Given the description of an element on the screen output the (x, y) to click on. 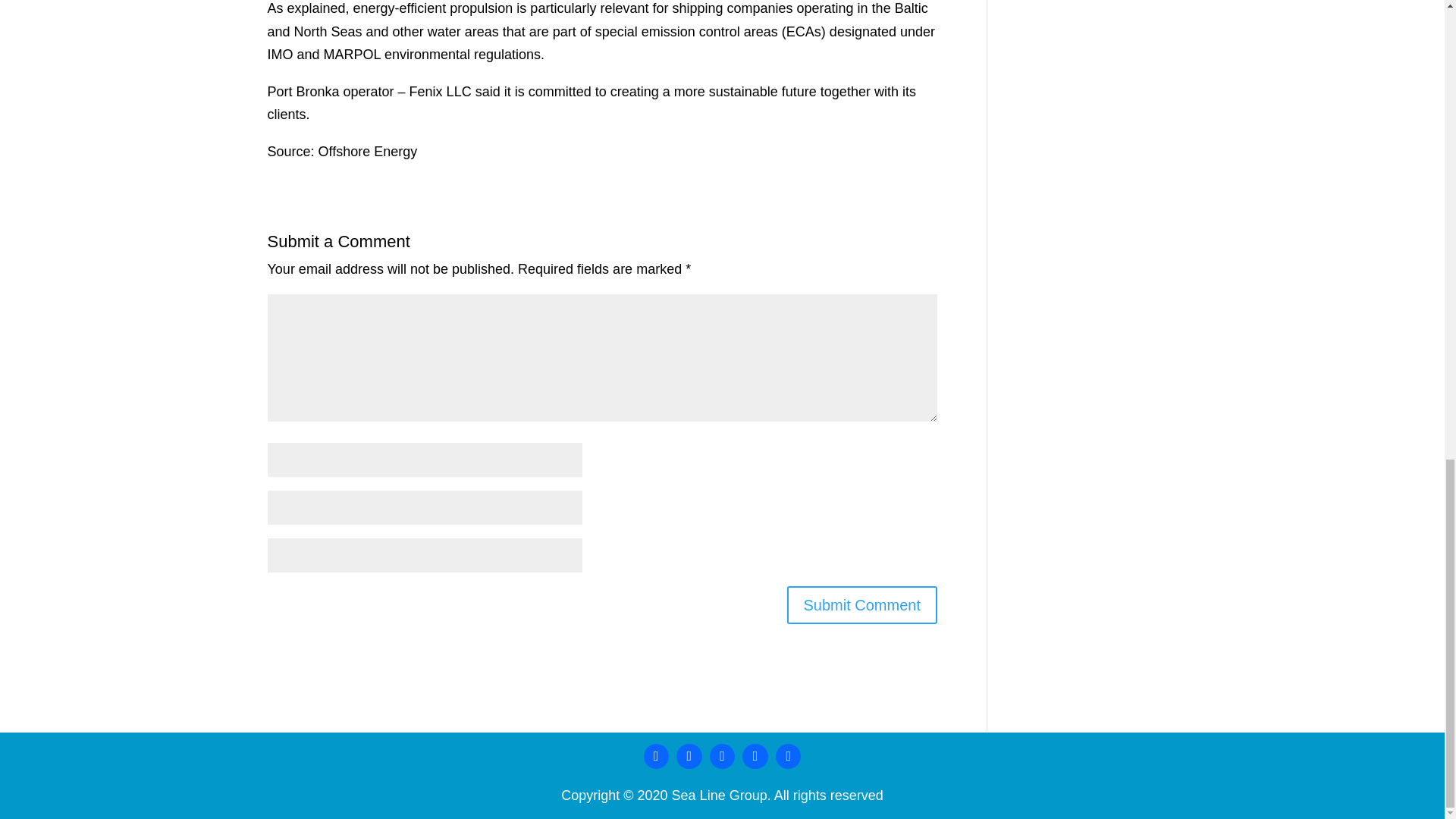
Submit Comment (862, 605)
Whatsapp (788, 756)
Linkedin (689, 756)
Facebook (656, 756)
Instagram (722, 756)
Submit Comment (862, 605)
WordPress (754, 756)
